Given the description of an element on the screen output the (x, y) to click on. 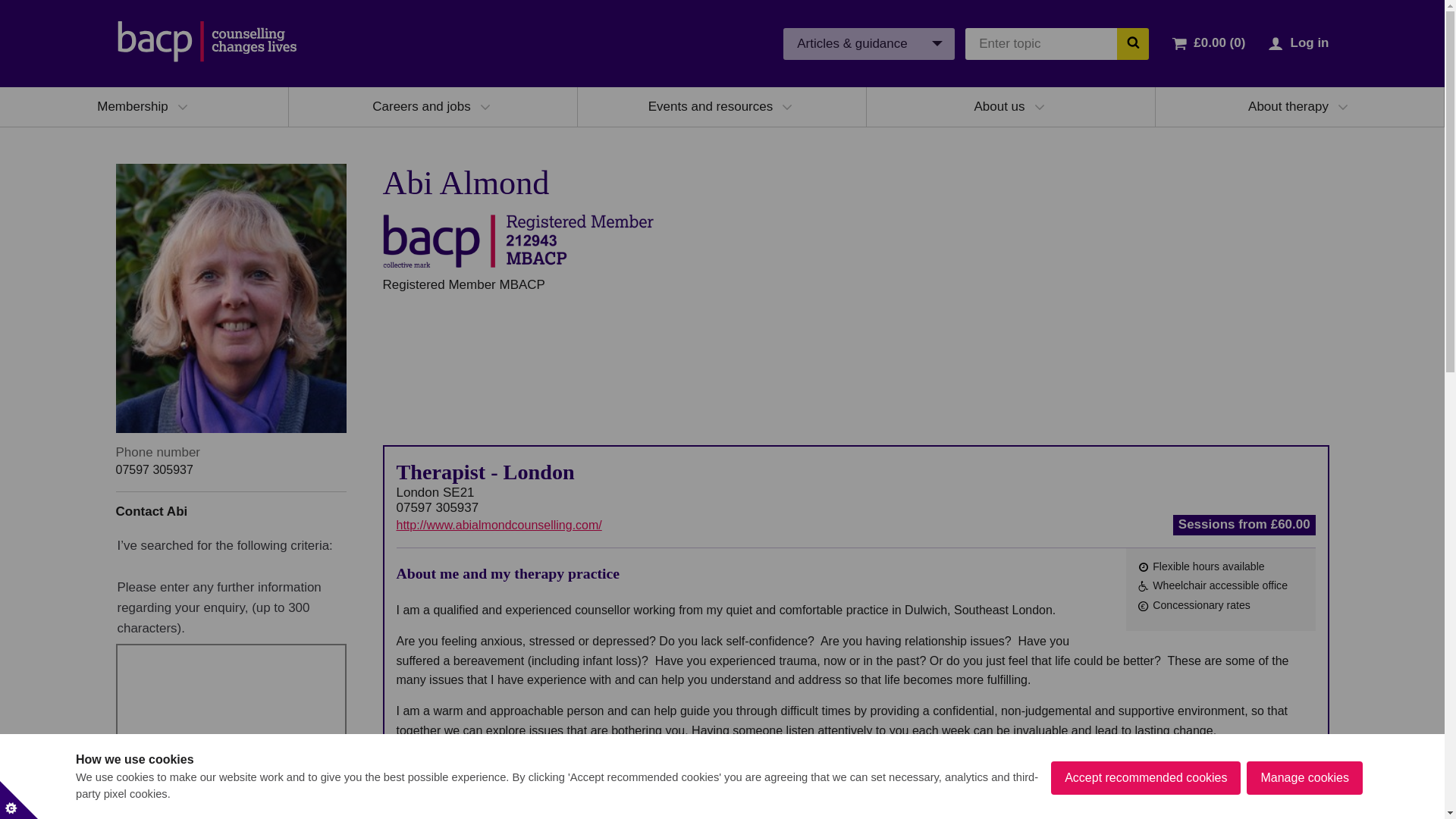
Manage cookies (1304, 811)
Careers and jobs (421, 106)
Membership (132, 106)
Search the BACP website (1132, 42)
Events and resources (710, 106)
Log in (1309, 42)
